Given the description of an element on the screen output the (x, y) to click on. 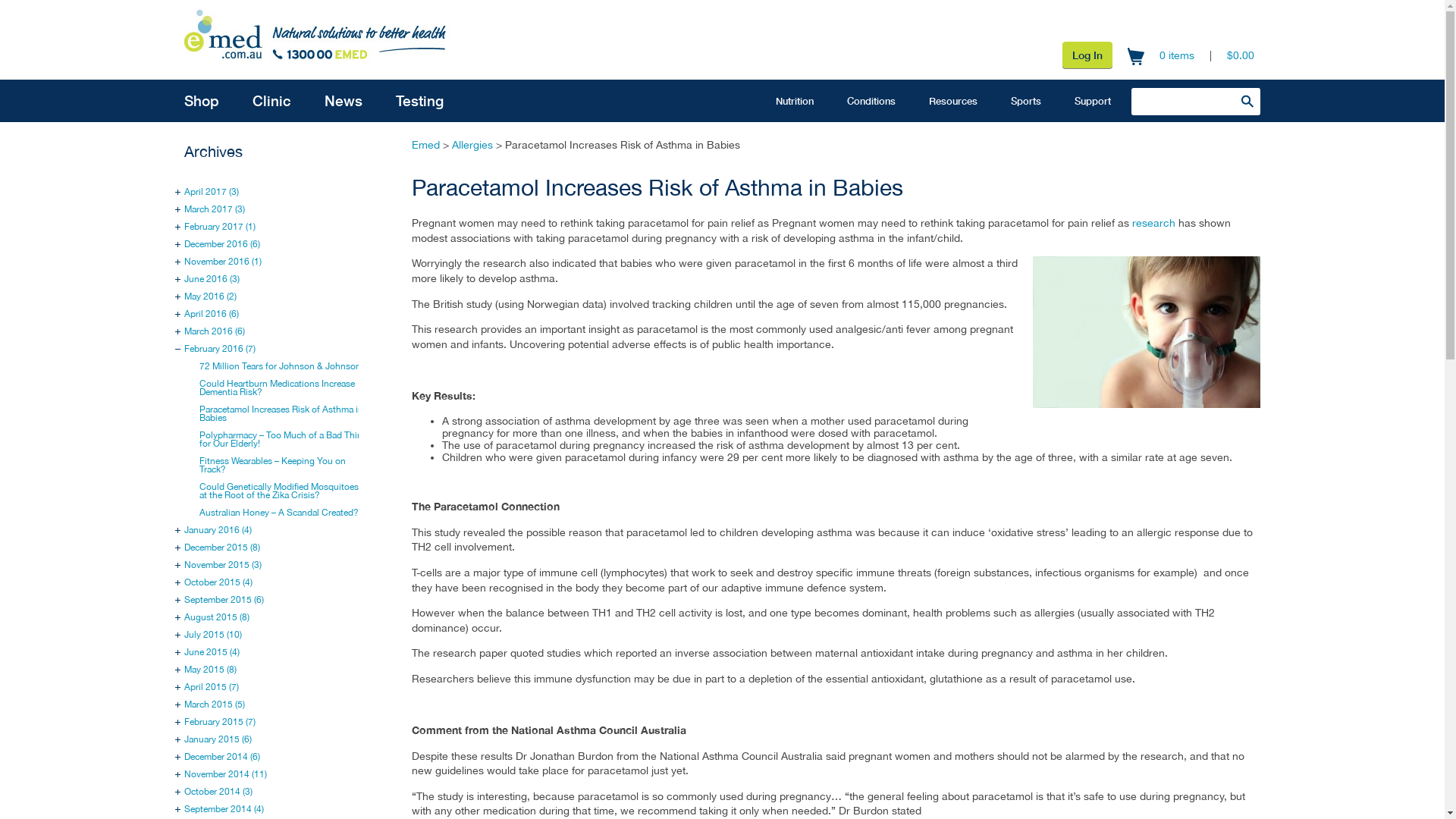
September 2014 (4) Element type: text (223, 808)
January 2015 (6) Element type: text (217, 739)
Allergies Element type: text (471, 144)
Could Heartburn Medications Increase Dementia Risk? Element type: text (276, 387)
June 2015 (4) Element type: text (211, 651)
0 items Element type: text (1176, 55)
Shop Element type: text (201, 100)
August 2015 (8) Element type: text (216, 616)
September 2015 (6) Element type: text (223, 599)
November 2016 (1) Element type: text (222, 261)
February 2017 (1) Element type: text (219, 226)
April 2015 (7) Element type: text (211, 686)
November 2015 (3) Element type: text (222, 564)
research Element type: text (1153, 222)
$0.00 Element type: text (1240, 55)
Sports Element type: text (1025, 100)
March 2017 (3) Element type: text (214, 208)
Clinic Element type: text (271, 100)
December 2014 (6) Element type: text (222, 756)
Conditions Element type: text (871, 100)
Nutrition Element type: text (794, 100)
February 2015 (7) Element type: text (219, 721)
October 2015 (4) Element type: text (218, 582)
July 2015 (10) Element type: text (212, 634)
72 Million Tears for Johnson & Johnson Element type: text (279, 365)
March 2015 (5) Element type: text (214, 704)
Testing Element type: text (419, 100)
June 2016 (3) Element type: text (211, 278)
May 2016 (2) Element type: text (210, 296)
November 2014 (11) Element type: text (225, 773)
Emed Element type: text (425, 144)
Support Element type: text (1092, 100)
Log In Element type: text (1087, 54)
Paracetamol Increases Risk of Asthma in Babies Element type: text (281, 413)
January 2016 (4) Element type: text (217, 529)
April 2016 (6) Element type: text (211, 313)
May 2015 (8) Element type: text (210, 669)
March 2016 (6) Element type: text (214, 331)
February 2016 (7) Element type: text (219, 348)
Resources Element type: text (953, 100)
Search Element type: text (1247, 100)
News Element type: text (343, 100)
April 2017 (3) Element type: text (211, 191)
October 2014 (3) Element type: text (218, 791)
December 2015 (8) Element type: text (222, 547)
December 2016 (6) Element type: text (222, 243)
